Given the description of an element on the screen output the (x, y) to click on. 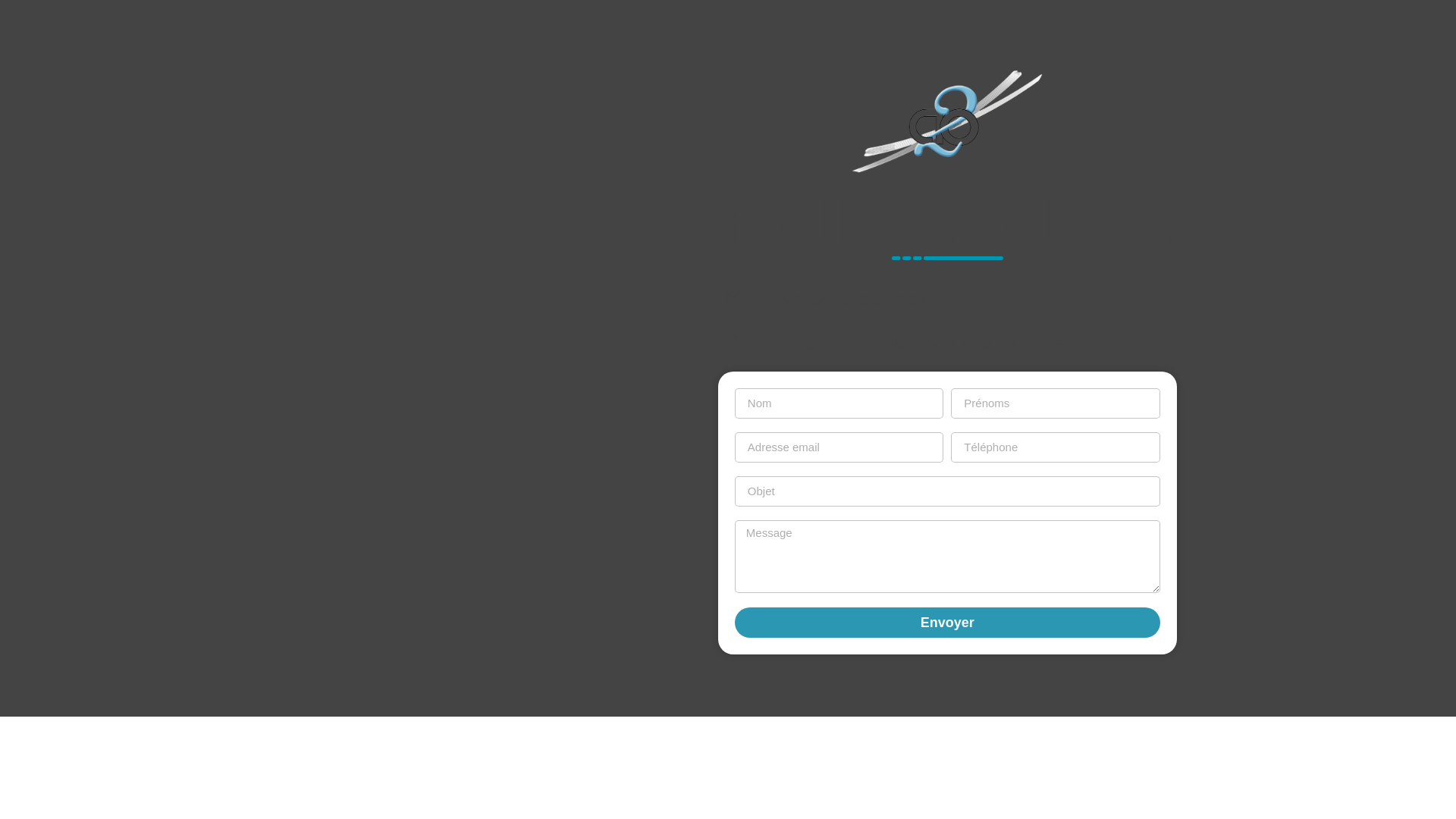
Envoyez-nous un mail Element type: text (843, 298)
Envoyer Element type: text (947, 622)
+33 6 32 79 12 35 Element type: text (994, 344)
